Given the description of an element on the screen output the (x, y) to click on. 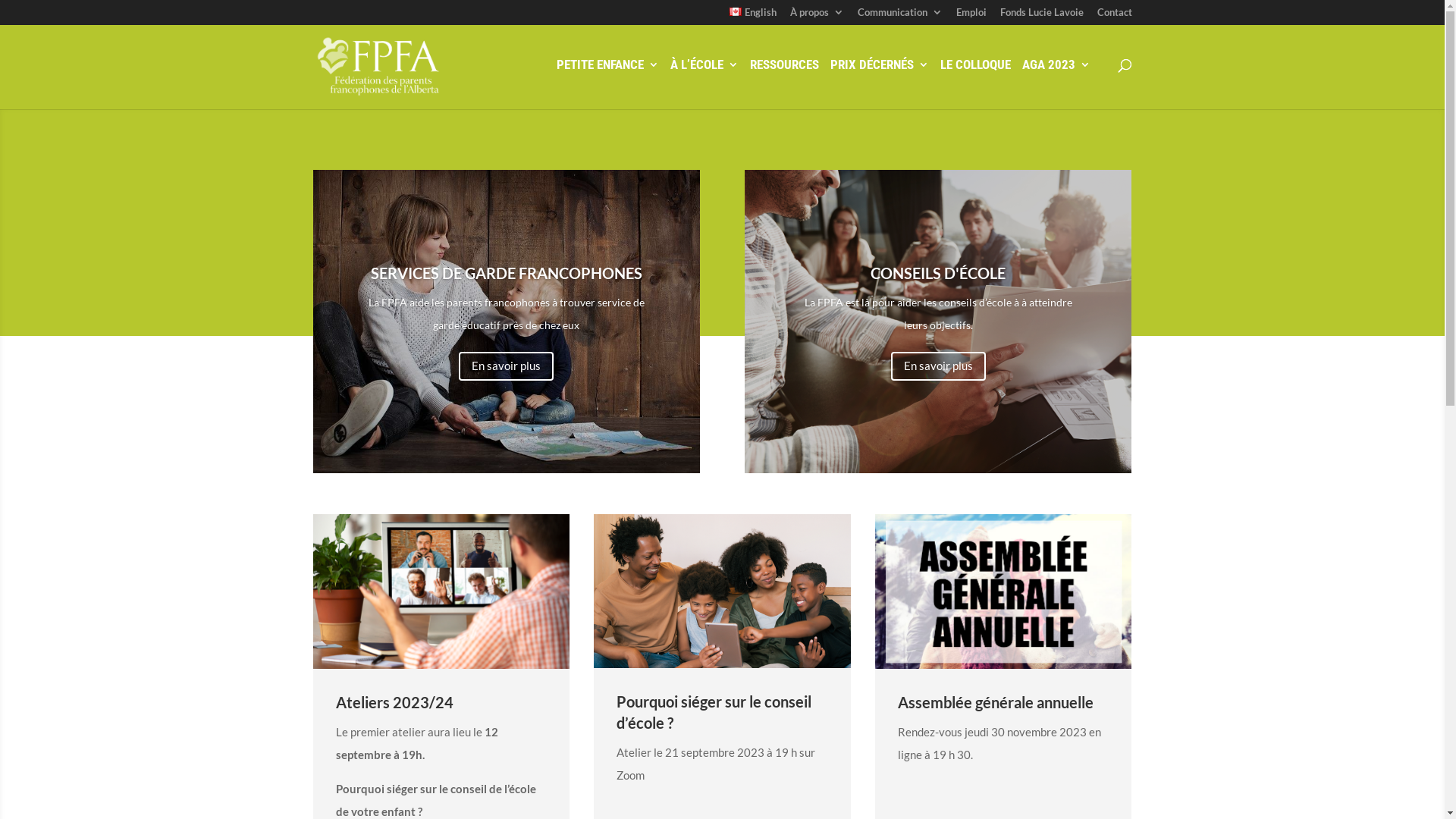
Fonds Lucie Lavoie Element type: text (1040, 16)
English Element type: text (752, 16)
AGA 2023 Element type: text (1056, 81)
En savoir plus Element type: text (505, 366)
En savoir plus Element type: text (938, 366)
SERVICES DE GARDE FRANCOPHONES Element type: text (506, 272)
LE COLLOQUE Element type: text (975, 81)
Emploi Element type: text (970, 16)
Communication Element type: text (898, 16)
Contact Element type: text (1113, 16)
PETITE ENFANCE Element type: text (607, 81)
RESSOURCES Element type: text (783, 81)
Accueil-atelier parents francophones Element type: hover (721, 591)
